Given the description of an element on the screen output the (x, y) to click on. 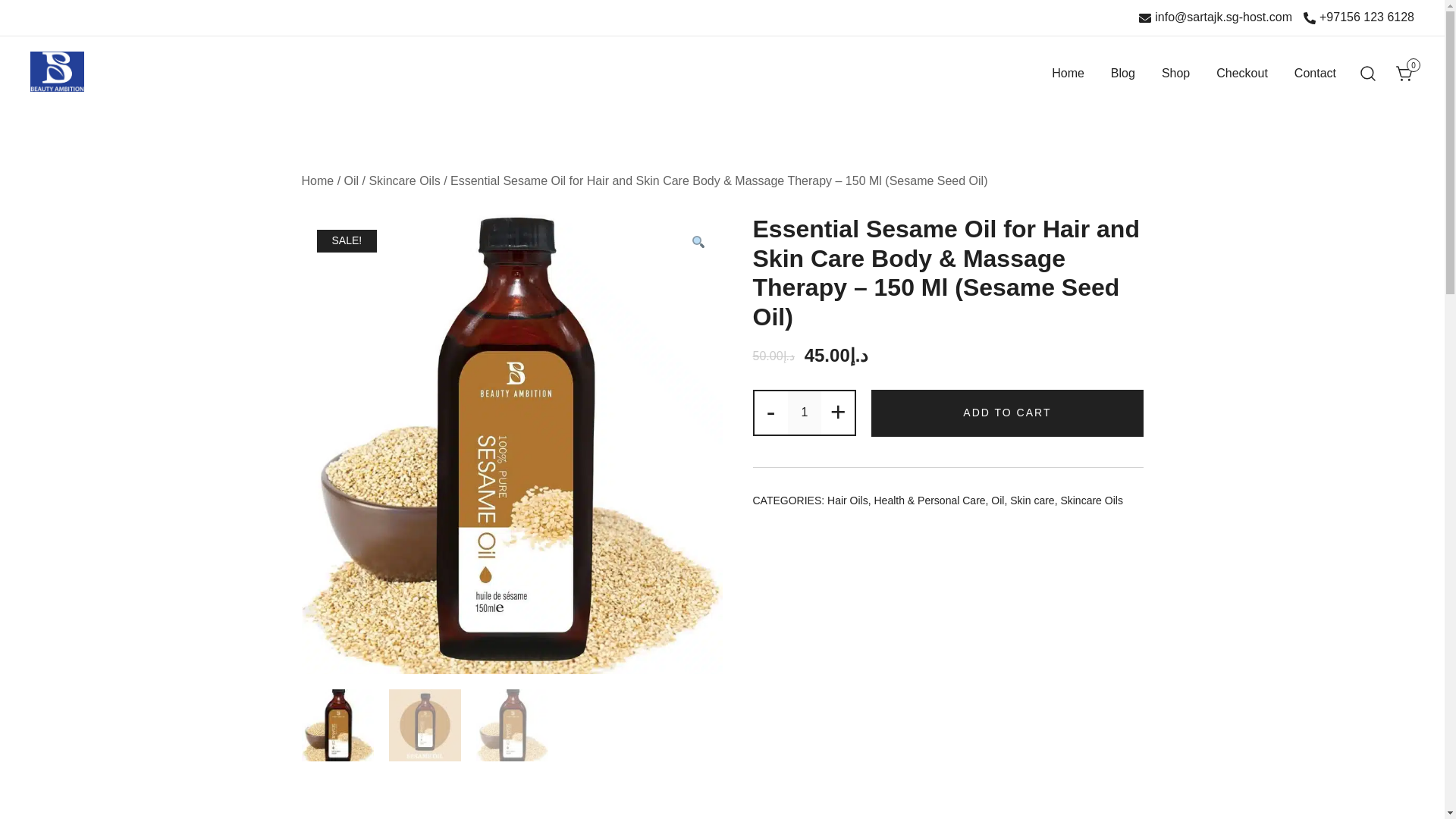
Skin care (1032, 500)
Oil (351, 180)
Oil (997, 500)
0 (1404, 72)
Hair Oils (847, 500)
Skincare Oils (403, 180)
Home (317, 180)
Contact (1315, 73)
ADD TO CART (1006, 412)
View your shopping cart (1404, 72)
Checkout (1241, 73)
Home (1067, 73)
